Given the description of an element on the screen output the (x, y) to click on. 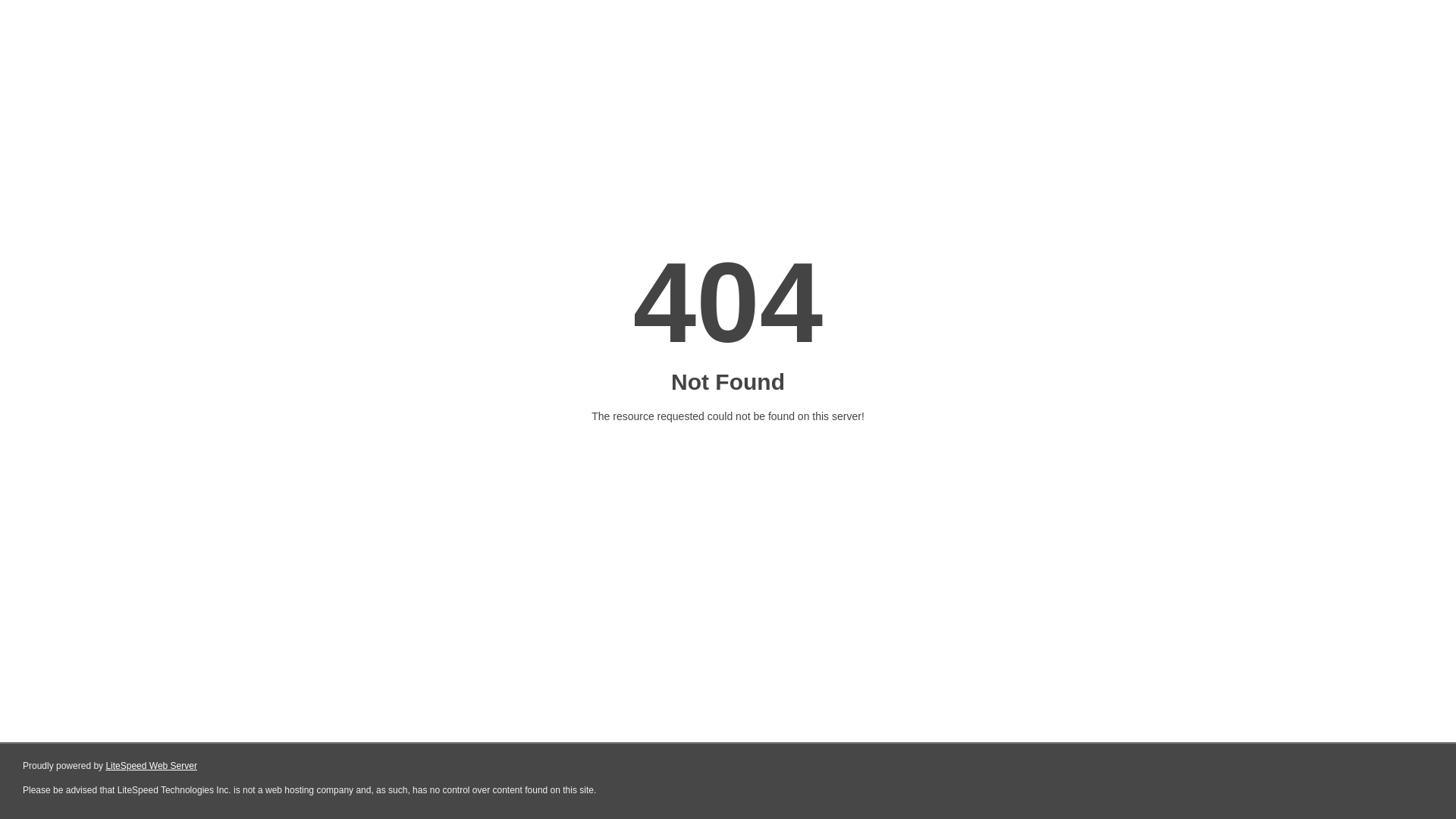
LiteSpeed Web Server Element type: text (151, 765)
